Given the description of an element on the screen output the (x, y) to click on. 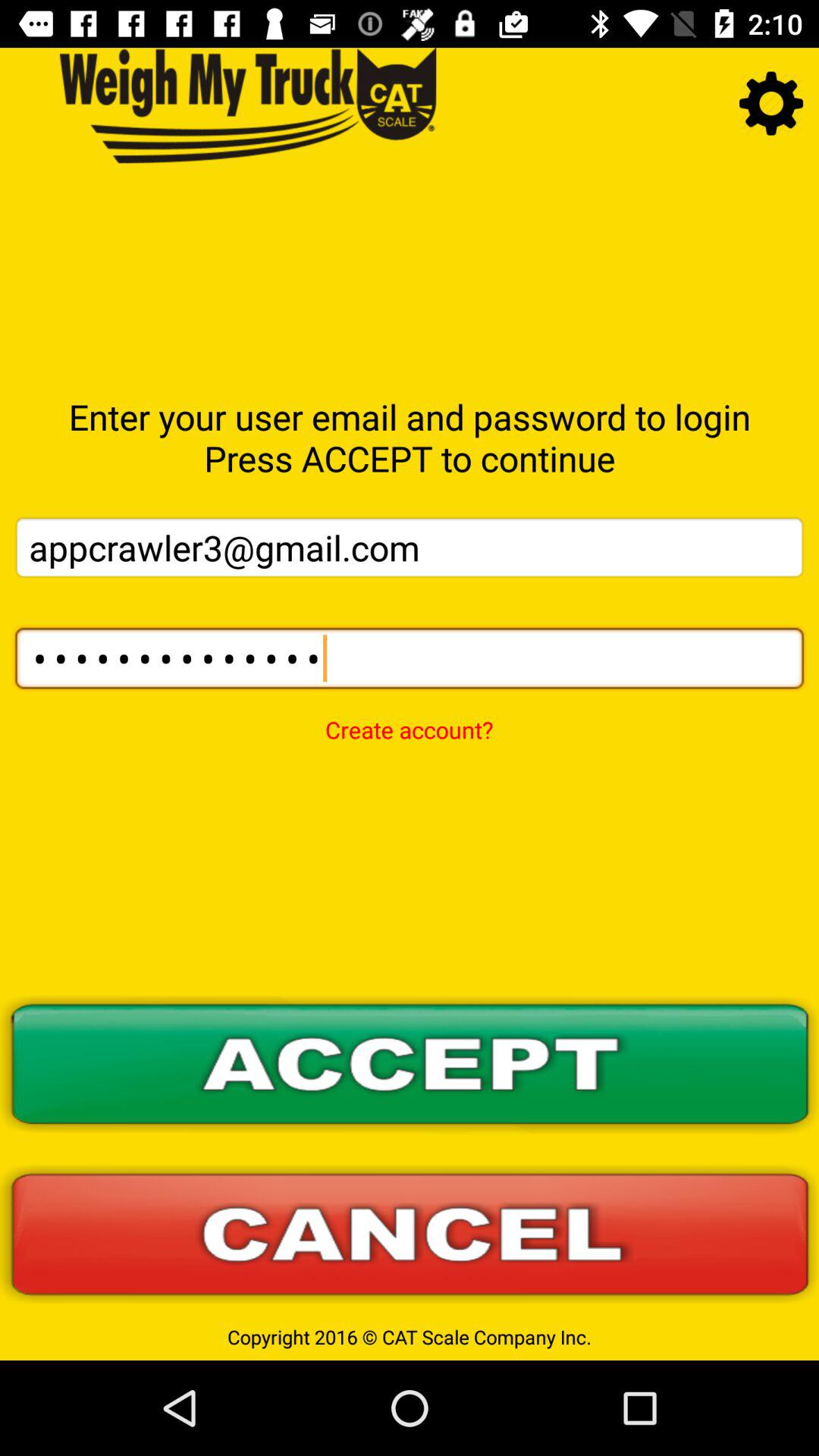
turn off the item at the top right corner (771, 103)
